Given the description of an element on the screen output the (x, y) to click on. 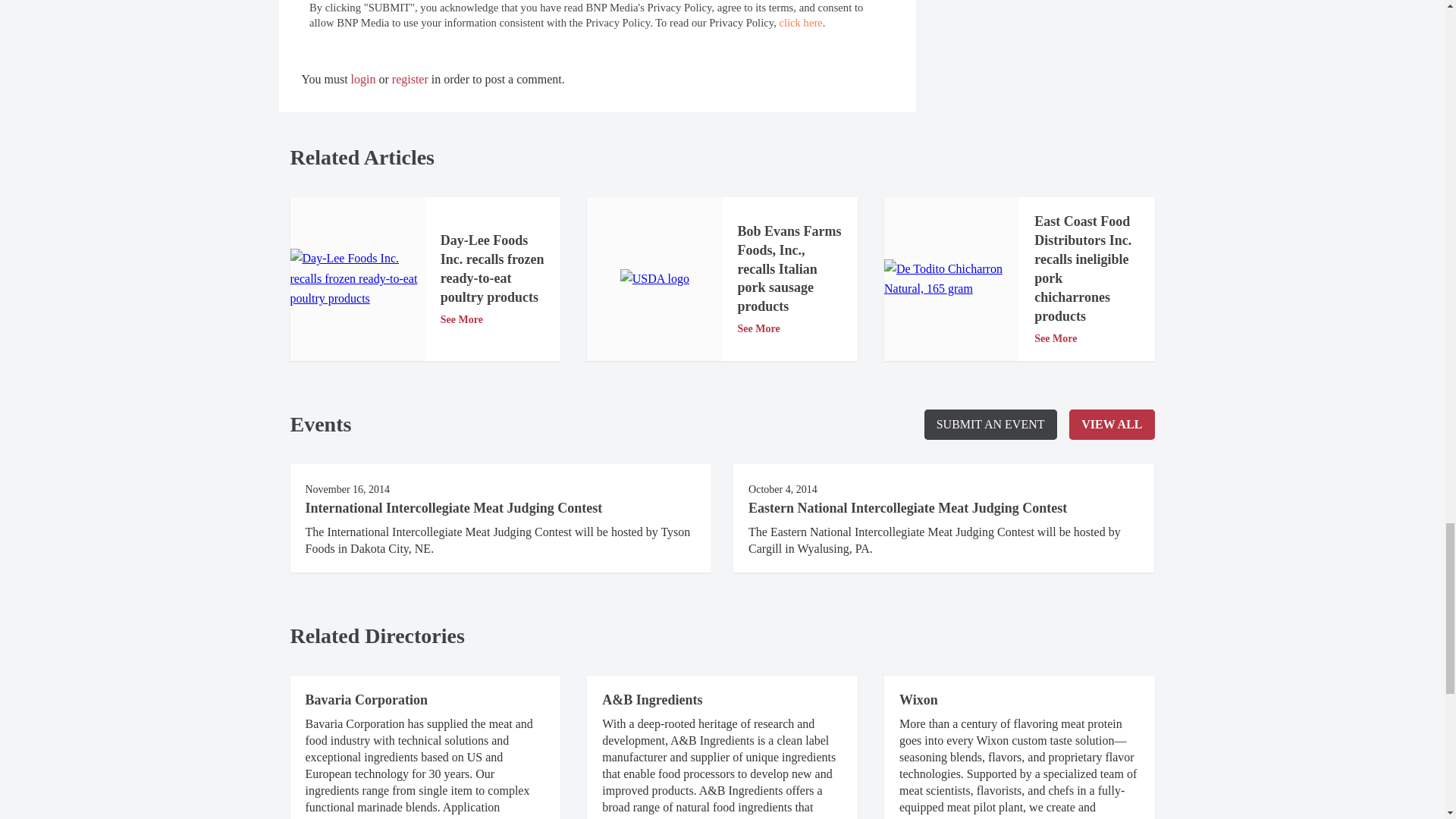
USDA logo (654, 279)
Interaction questions (597, 16)
De Todito Chicharron Natural, 165 gram (951, 279)
